Given the description of an element on the screen output the (x, y) to click on. 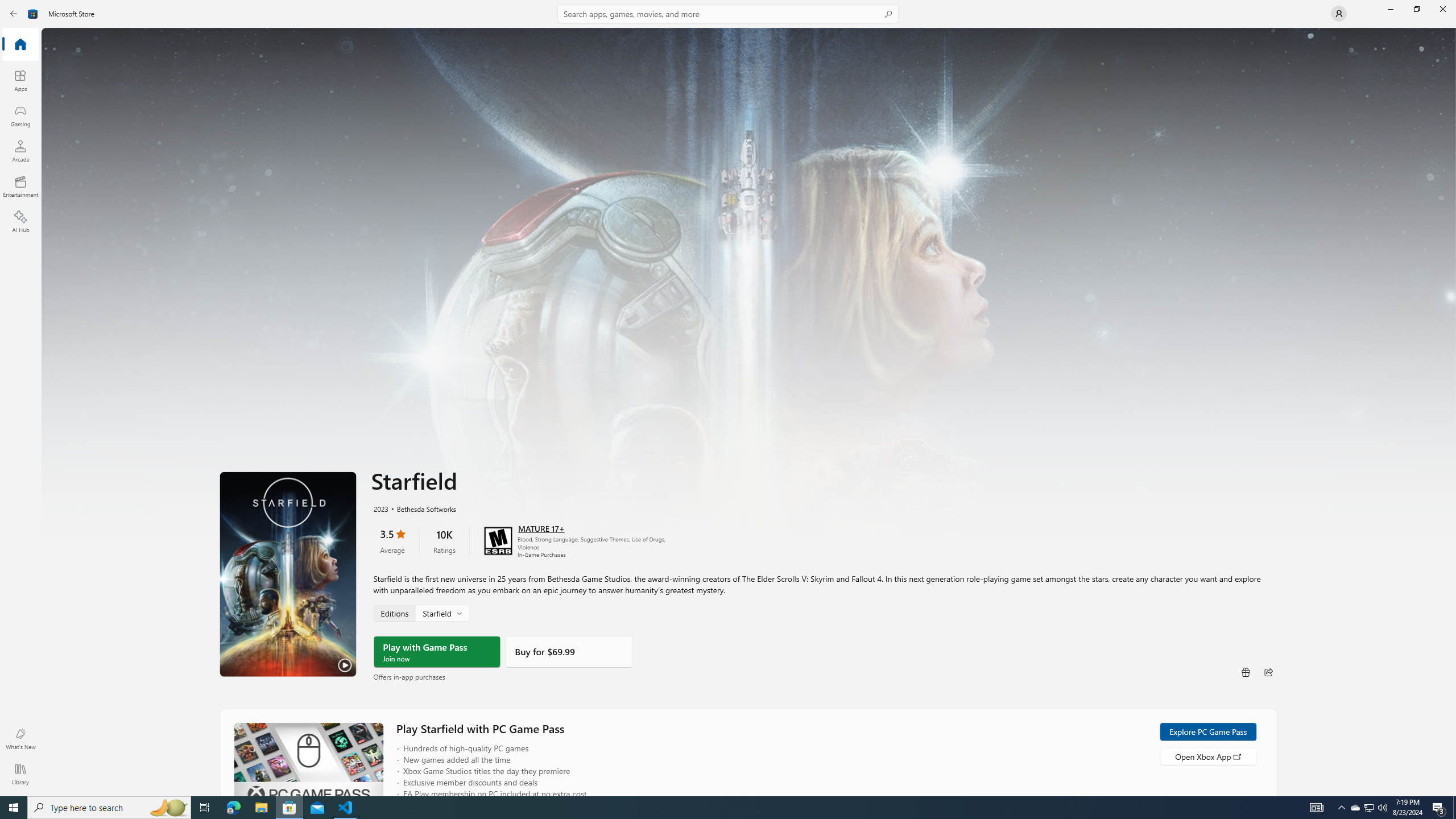
Gaming (20, 115)
Buy as gift (1245, 671)
Bethesda Softworks (420, 507)
Play Trailer (287, 573)
Close Microsoft Store (1442, 9)
2023 (379, 507)
Apps (20, 80)
AutomationID: NavigationControl (728, 398)
Starfield, Edition selector (421, 612)
Back (13, 13)
Play with Game Pass (436, 651)
Library (20, 773)
Restore Microsoft Store (1416, 9)
